Given the description of an element on the screen output the (x, y) to click on. 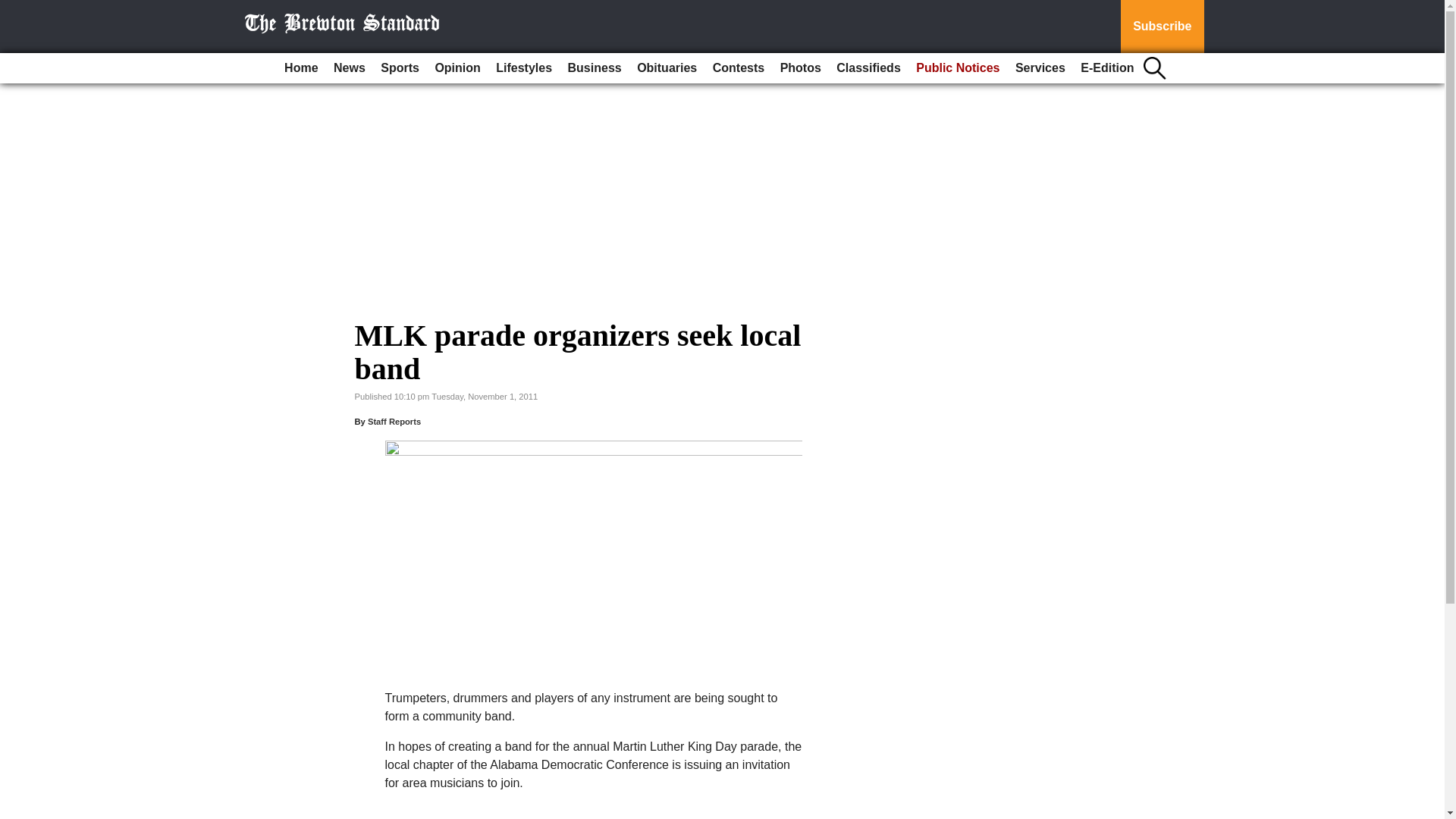
Sports (399, 68)
Obituaries (666, 68)
Home (300, 68)
Business (594, 68)
News (349, 68)
Staff Reports (394, 420)
Classifieds (867, 68)
Services (1040, 68)
Lifestyles (523, 68)
Opinion (457, 68)
Photos (800, 68)
Contests (738, 68)
Go (13, 9)
Subscribe (1162, 26)
E-Edition (1107, 68)
